Given the description of an element on the screen output the (x, y) to click on. 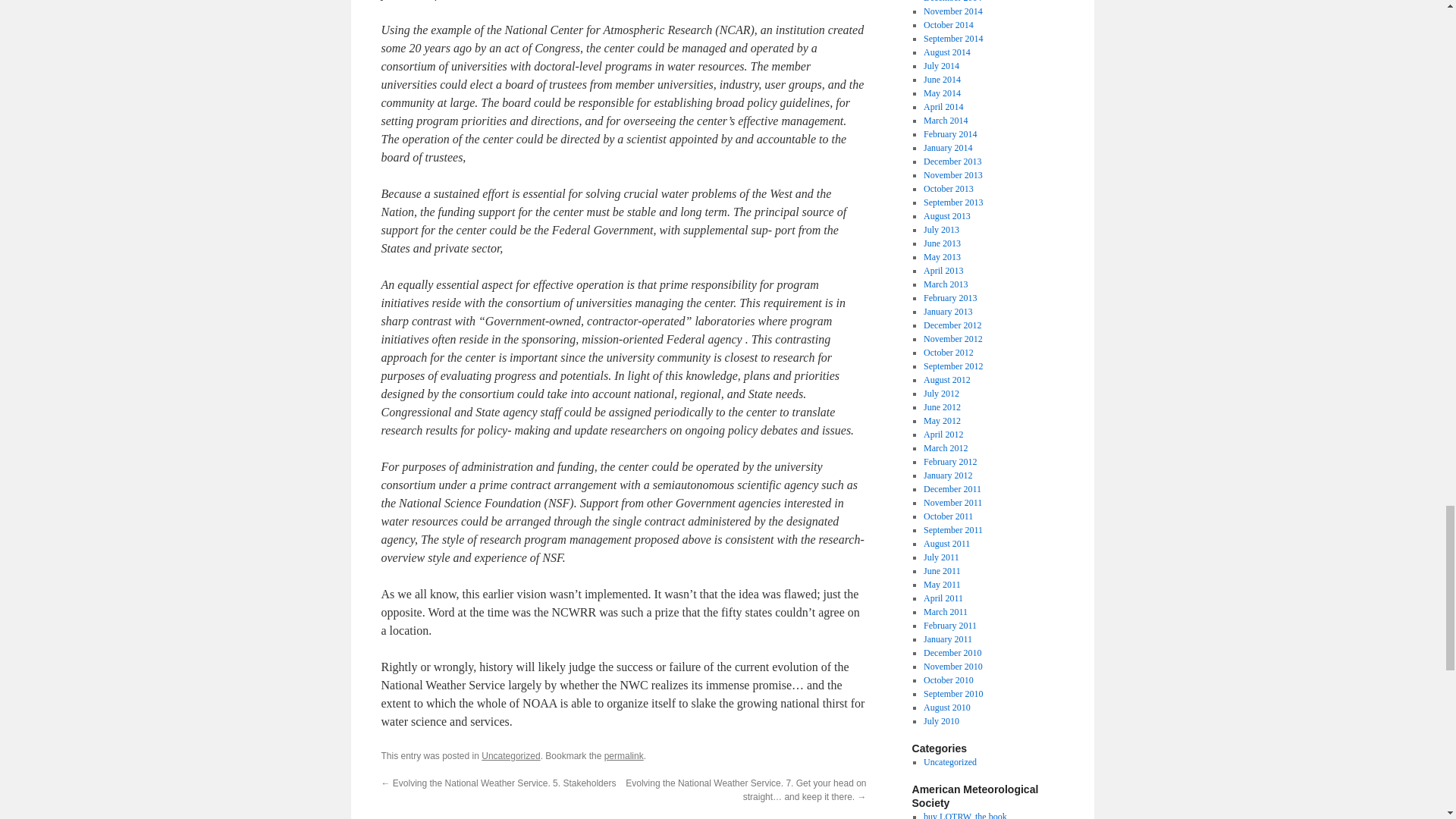
Uncategorized (510, 756)
permalink (623, 756)
